Given the description of an element on the screen output the (x, y) to click on. 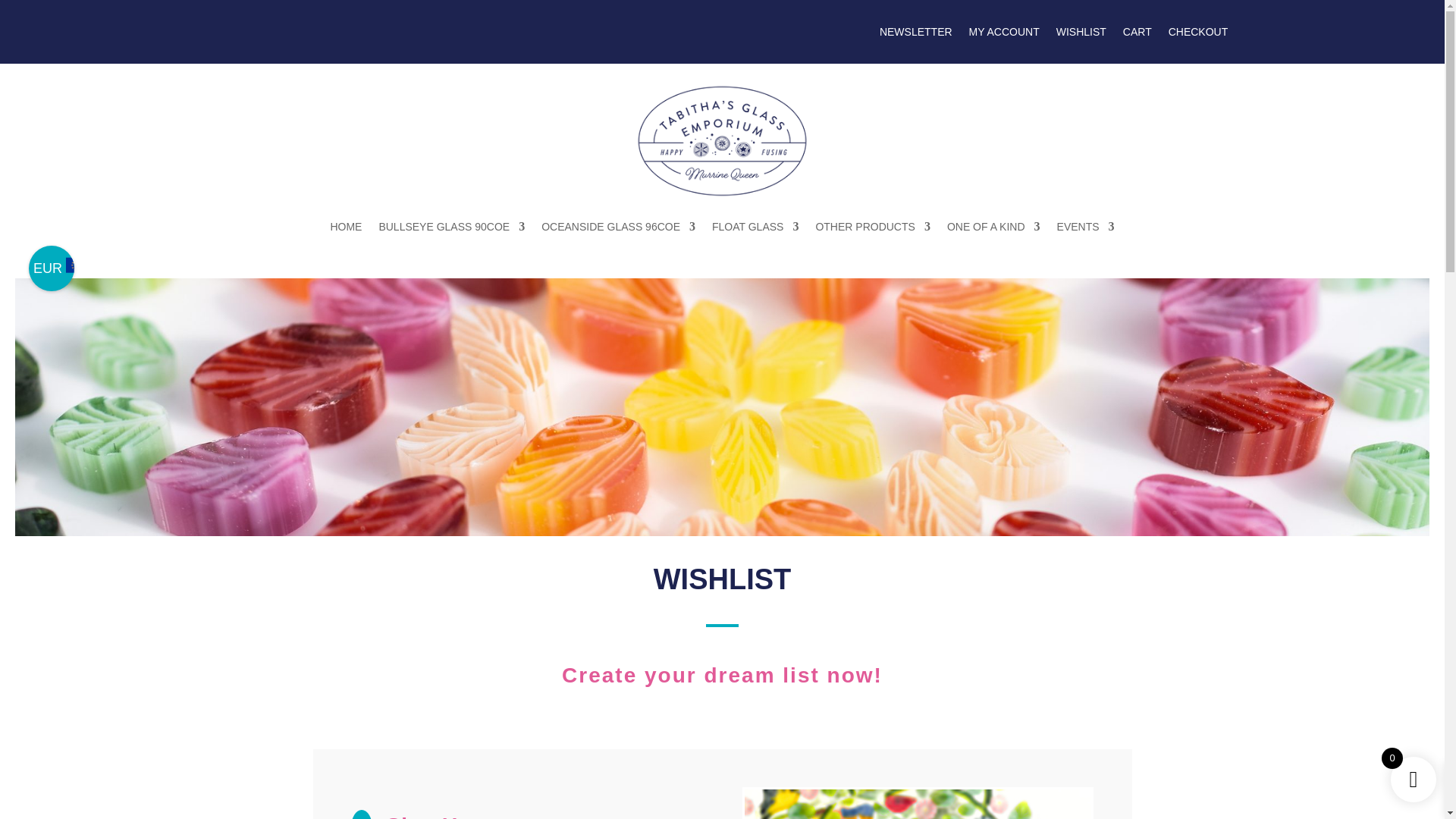
CHECKOUT (1198, 34)
BULLSEYE GLASS 90COE (451, 226)
WISHLIST (1081, 34)
comissions bunny (917, 804)
MY ACCOUNT (1004, 34)
NEWSLETTER (915, 34)
CART (1136, 34)
